Given the description of an element on the screen output the (x, y) to click on. 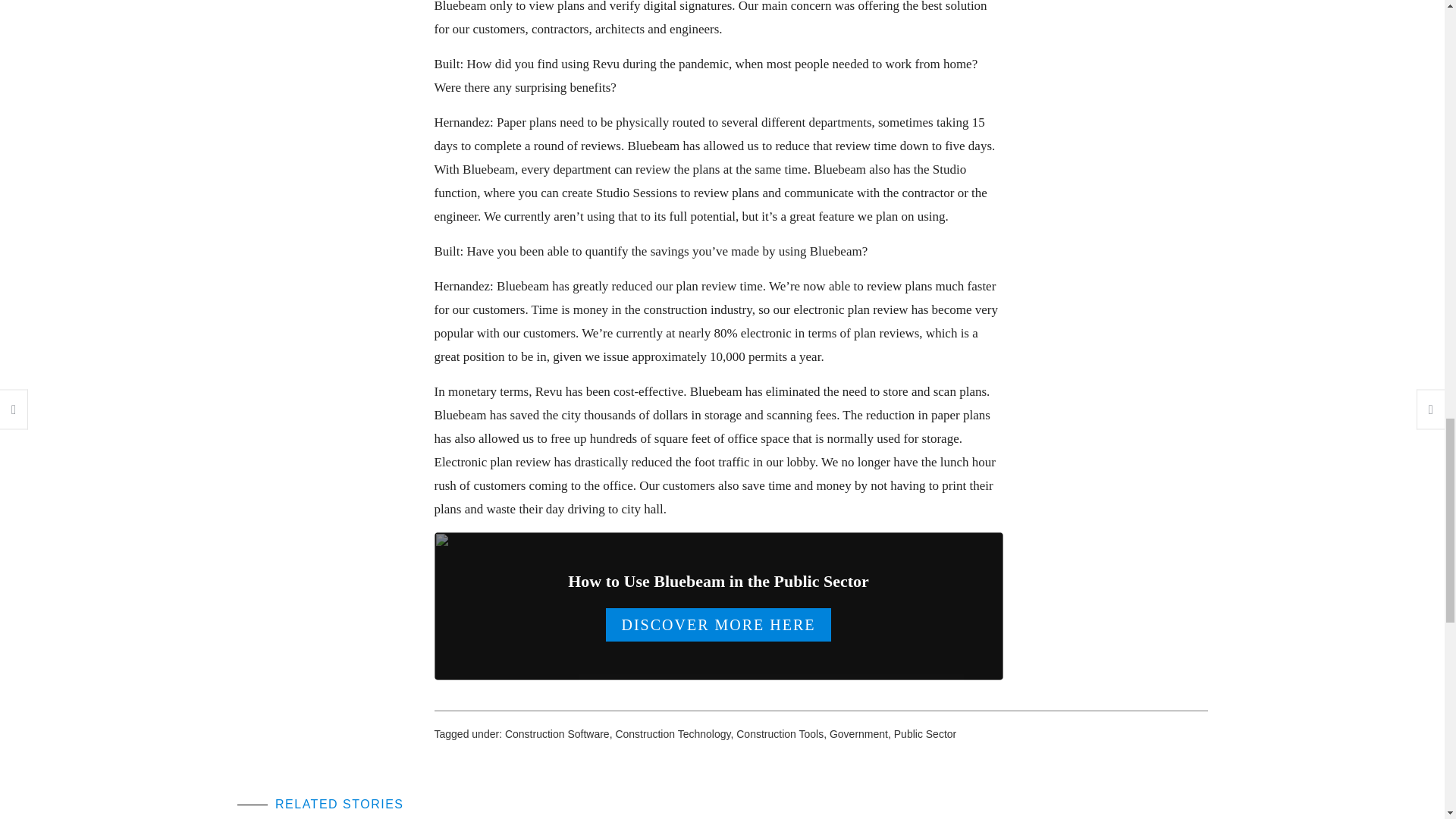
DISCOVER MORE HERE (717, 624)
Construction Technology (672, 734)
Government (858, 734)
Construction Software (557, 734)
Construction Tools (780, 734)
Public Sector (924, 734)
